Given the description of an element on the screen output the (x, y) to click on. 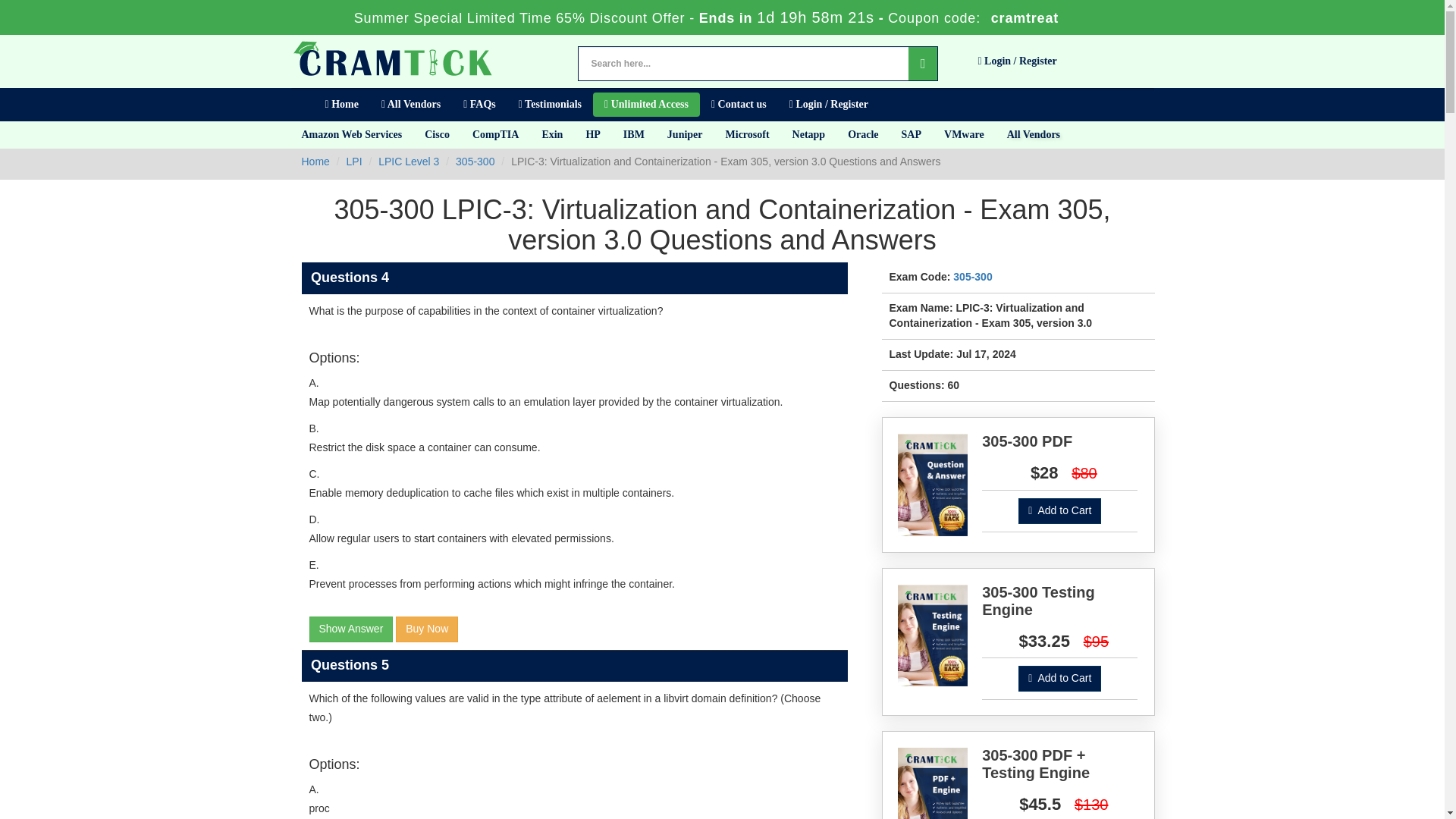
Cisco (437, 134)
LPI (354, 161)
LPIC Level 3 (408, 161)
Netapp (808, 134)
CompTIA (495, 134)
Microsoft (747, 134)
Home (315, 161)
Oracle (862, 134)
Home (341, 104)
Juniper (685, 134)
FAQs (478, 104)
All Vendors (410, 104)
VMware (964, 134)
HP (592, 134)
Unlimited Access (646, 104)
